Given the description of an element on the screen output the (x, y) to click on. 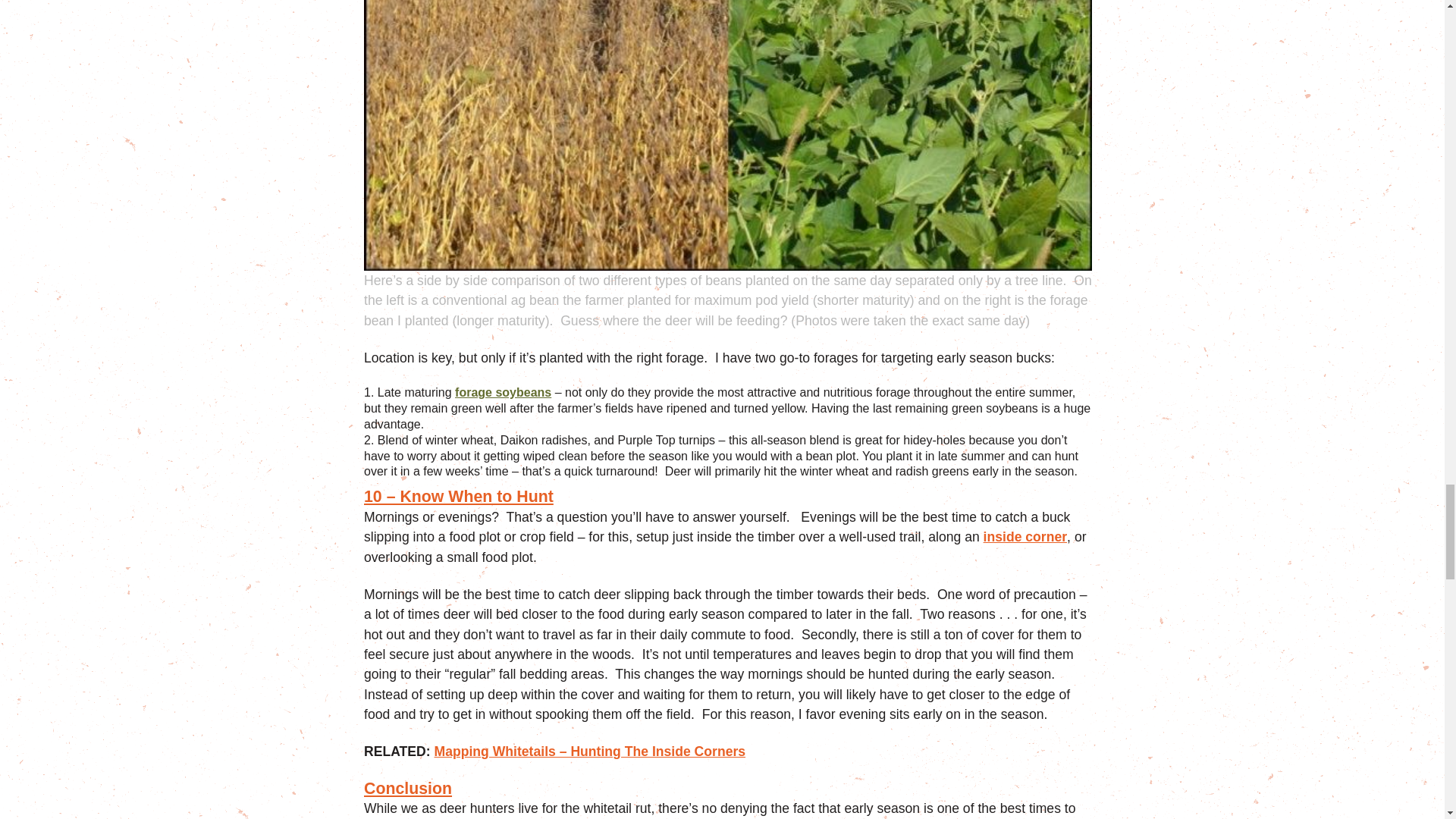
forage soybeans (502, 392)
inside corner (1025, 537)
